Given the description of an element on the screen output the (x, y) to click on. 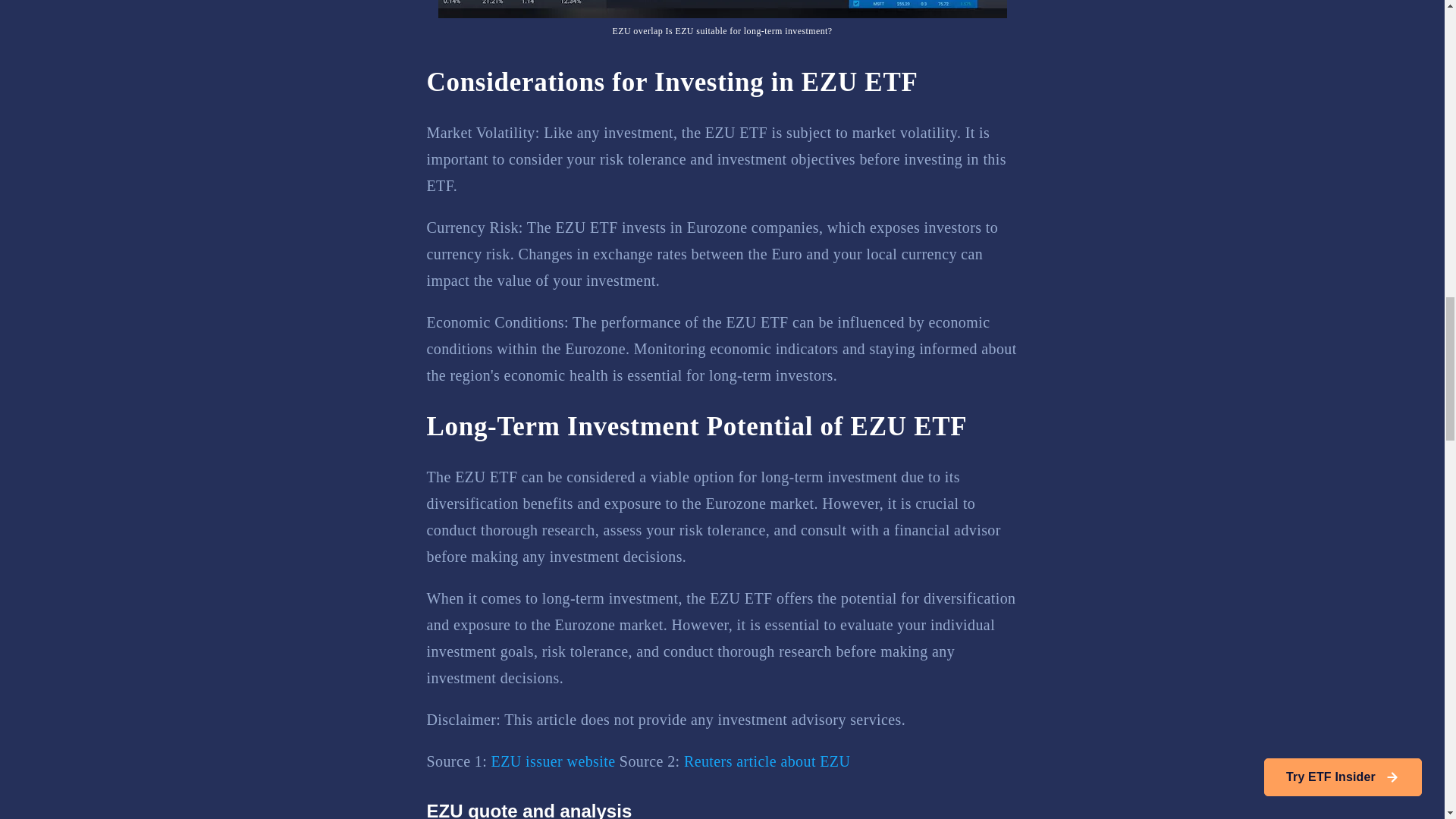
Reuters article about EZU (767, 760)
EZU issuer website (553, 760)
